Given the description of an element on the screen output the (x, y) to click on. 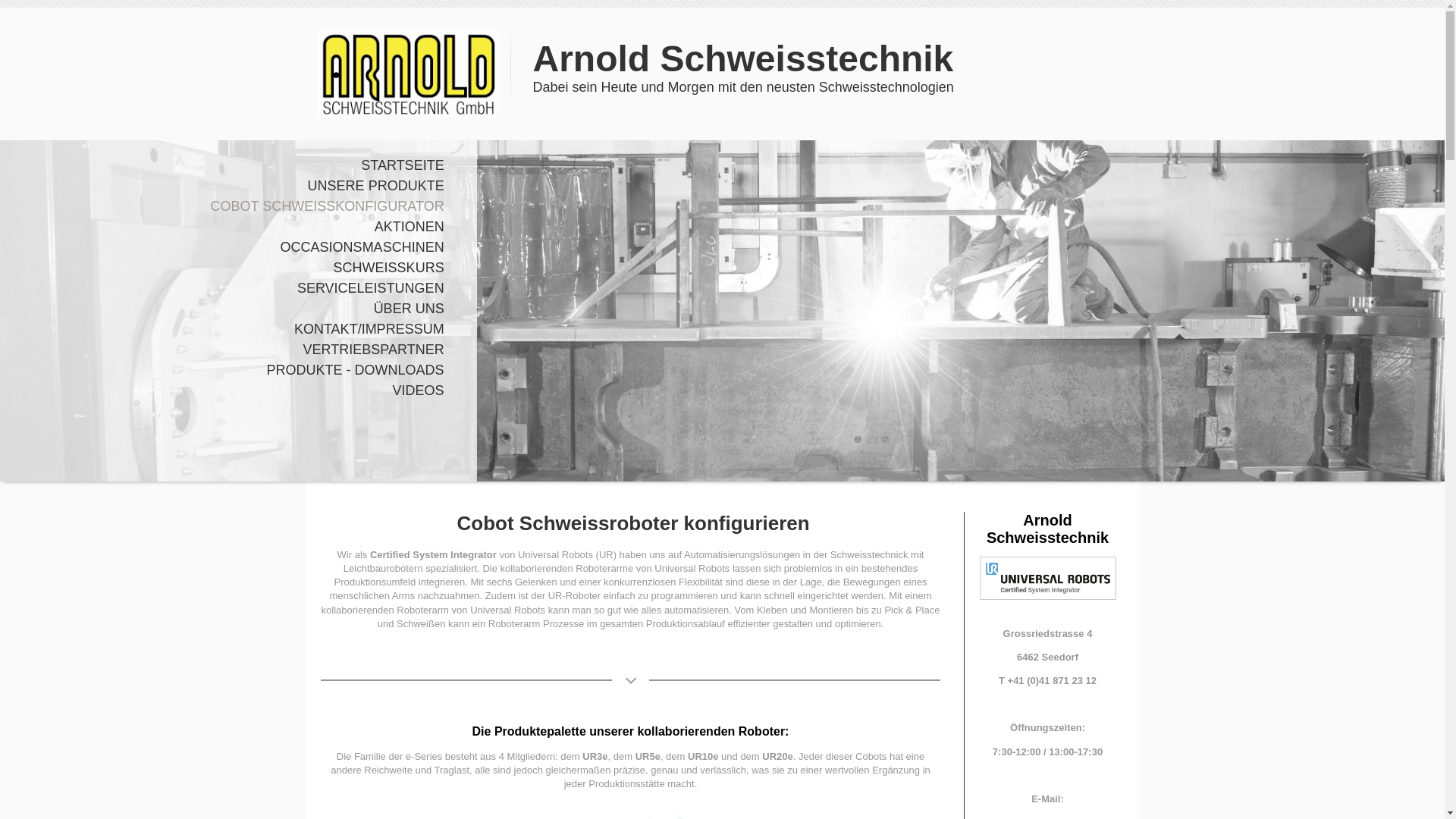
OCCASIONSMASCHINEN Element type: text (230, 247)
VERTRIEBSPARTNER Element type: text (230, 349)
PRODUKTE - DOWNLOADS Element type: text (230, 370)
  Element type: text (406, 36)
AKTIONEN Element type: text (230, 226)
SERVICELEISTUNGEN Element type: text (230, 288)
SCHWEISSKURS Element type: text (230, 267)
VIDEOS Element type: text (230, 390)
KONTAKT/IMPRESSUM Element type: text (230, 329)
UNSERE PRODUKTE Element type: text (230, 185)
COBOT SCHWEISSKONFIGURATOR Element type: text (230, 206)
STARTSEITE Element type: text (230, 165)
